Given the description of an element on the screen output the (x, y) to click on. 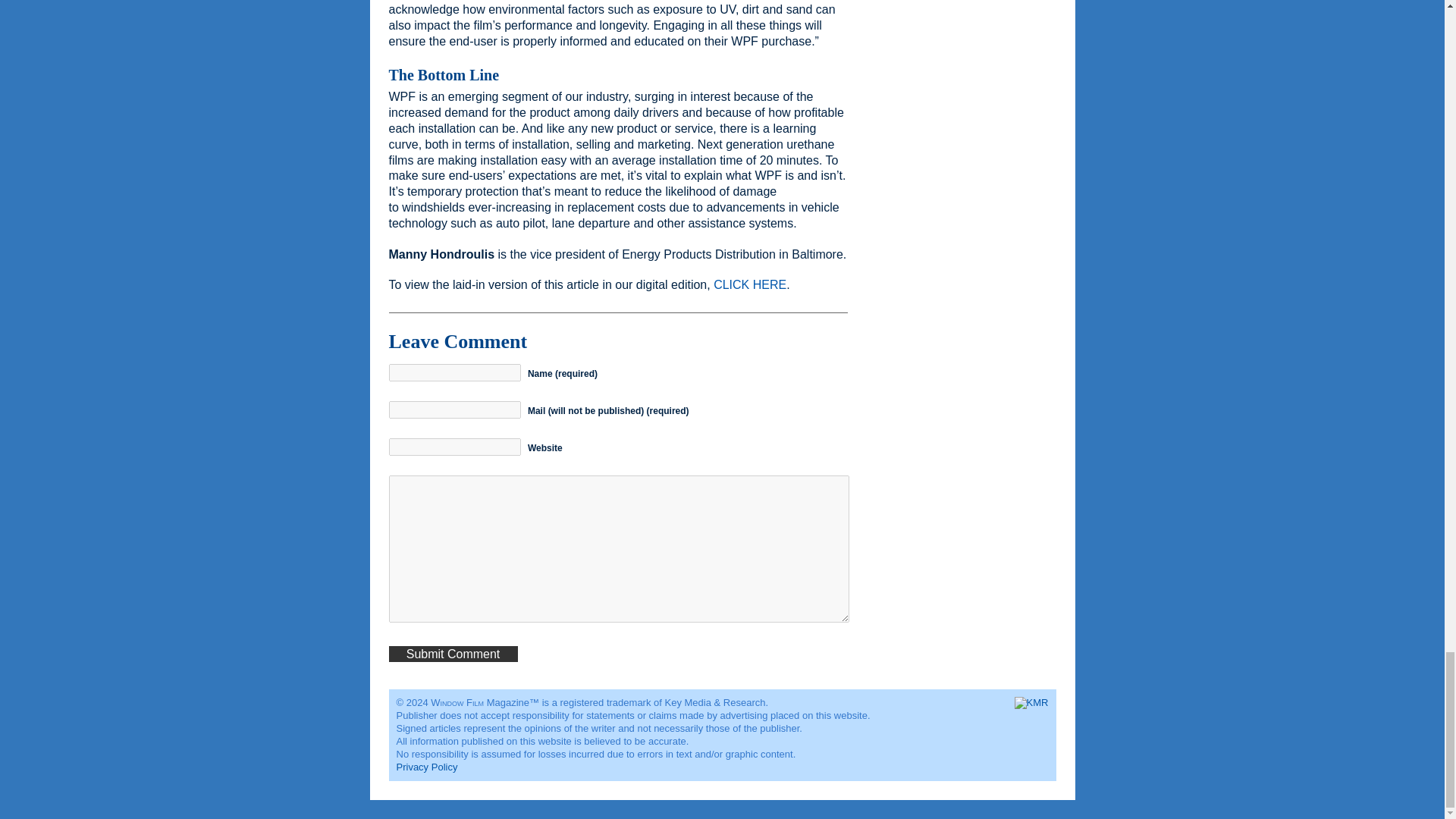
Submit Comment (452, 653)
Submit Comment (452, 653)
CLICK HERE (749, 284)
